Given the description of an element on the screen output the (x, y) to click on. 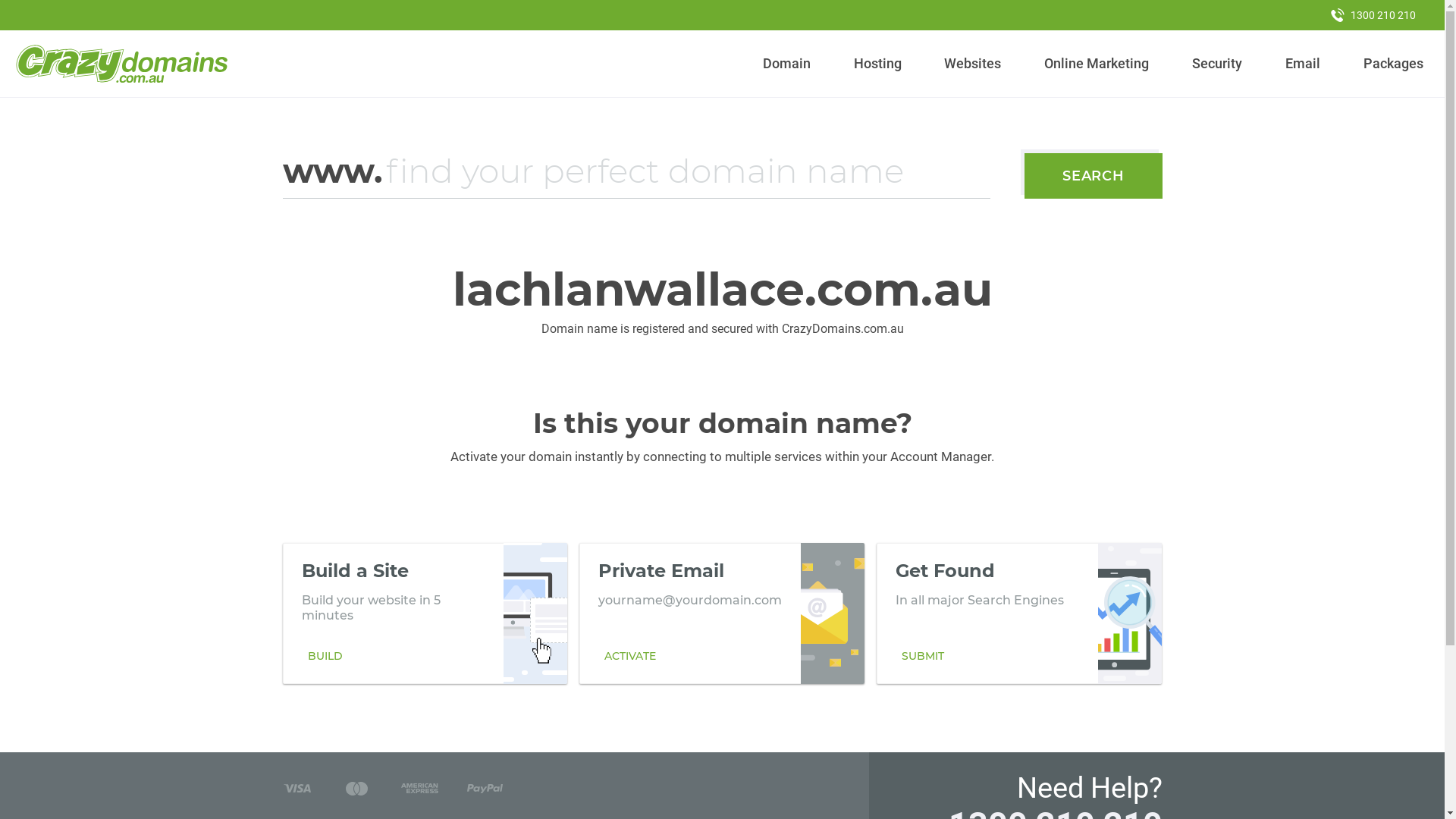
Security Element type: text (1217, 63)
Websites Element type: text (972, 63)
Build a Site
Build your website in 5 minutes
BUILD Element type: text (424, 613)
Email Element type: text (1302, 63)
Packages Element type: text (1392, 63)
Online Marketing Element type: text (1096, 63)
SEARCH Element type: text (1092, 175)
Get Found
In all major Search Engines
SUBMIT Element type: text (1018, 613)
Domain Element type: text (786, 63)
1300 210 210 Element type: text (1373, 15)
Private Email
yourname@yourdomain.com
ACTIVATE Element type: text (721, 613)
Hosting Element type: text (877, 63)
